Given the description of an element on the screen output the (x, y) to click on. 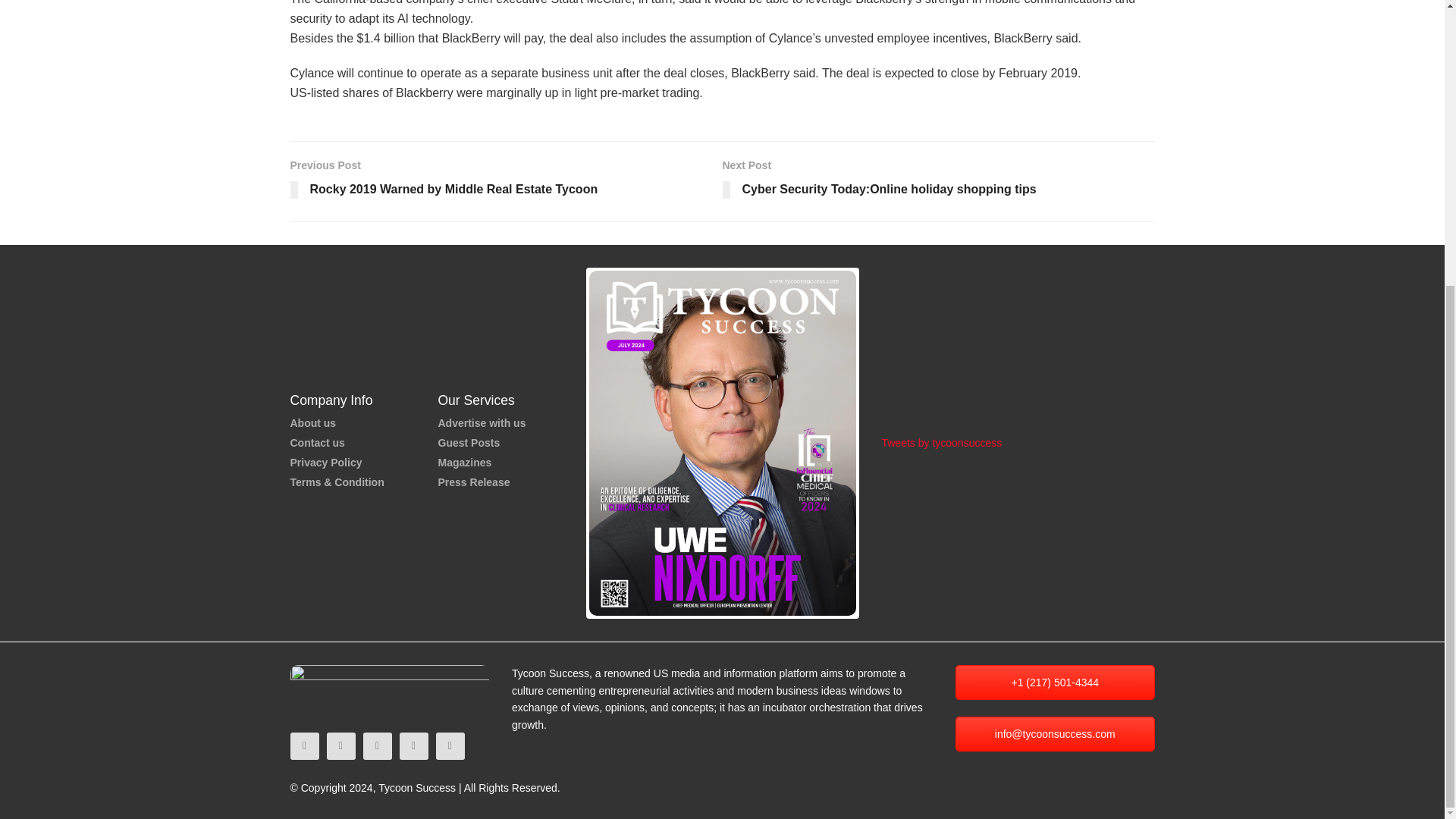
Tycoon Success white logo (389, 687)
